Given the description of an element on the screen output the (x, y) to click on. 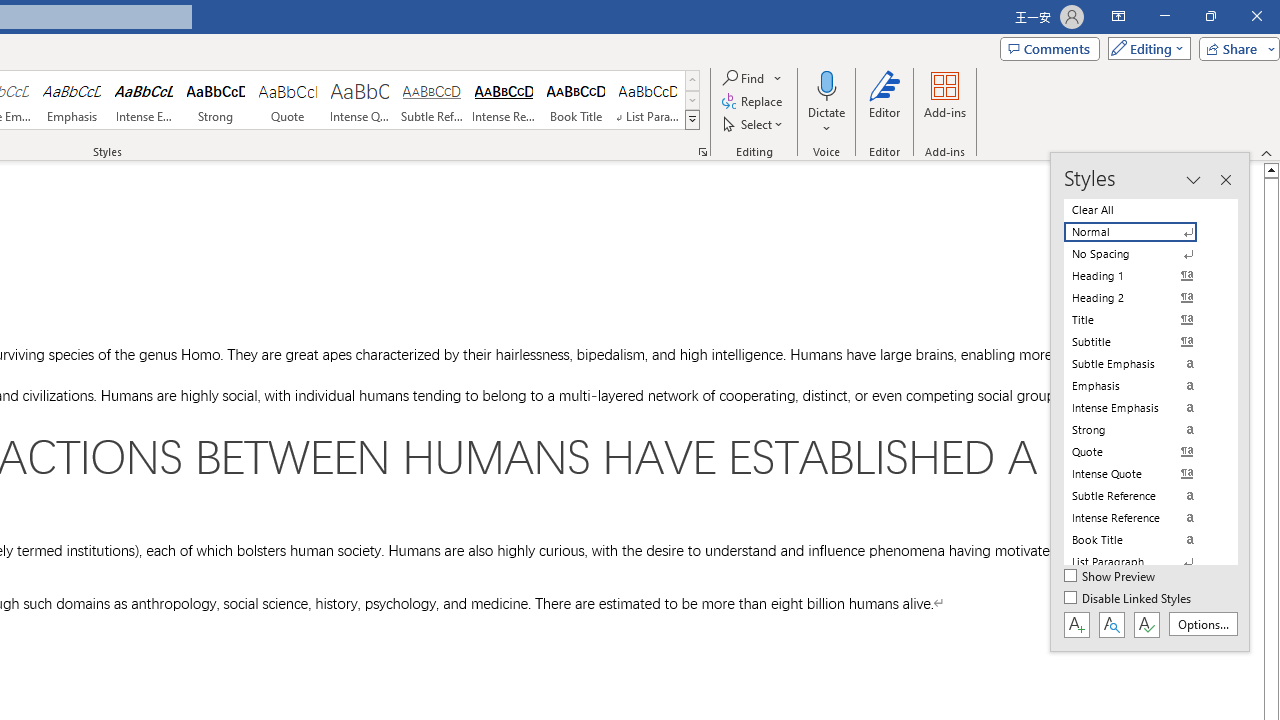
Subtitle (1142, 341)
Line up (1271, 169)
Show Preview (1110, 577)
Normal (1142, 232)
Clear All (1142, 209)
Strong (216, 100)
No Spacing (1142, 253)
Disable Linked Styles (1129, 599)
